Given the description of an element on the screen output the (x, y) to click on. 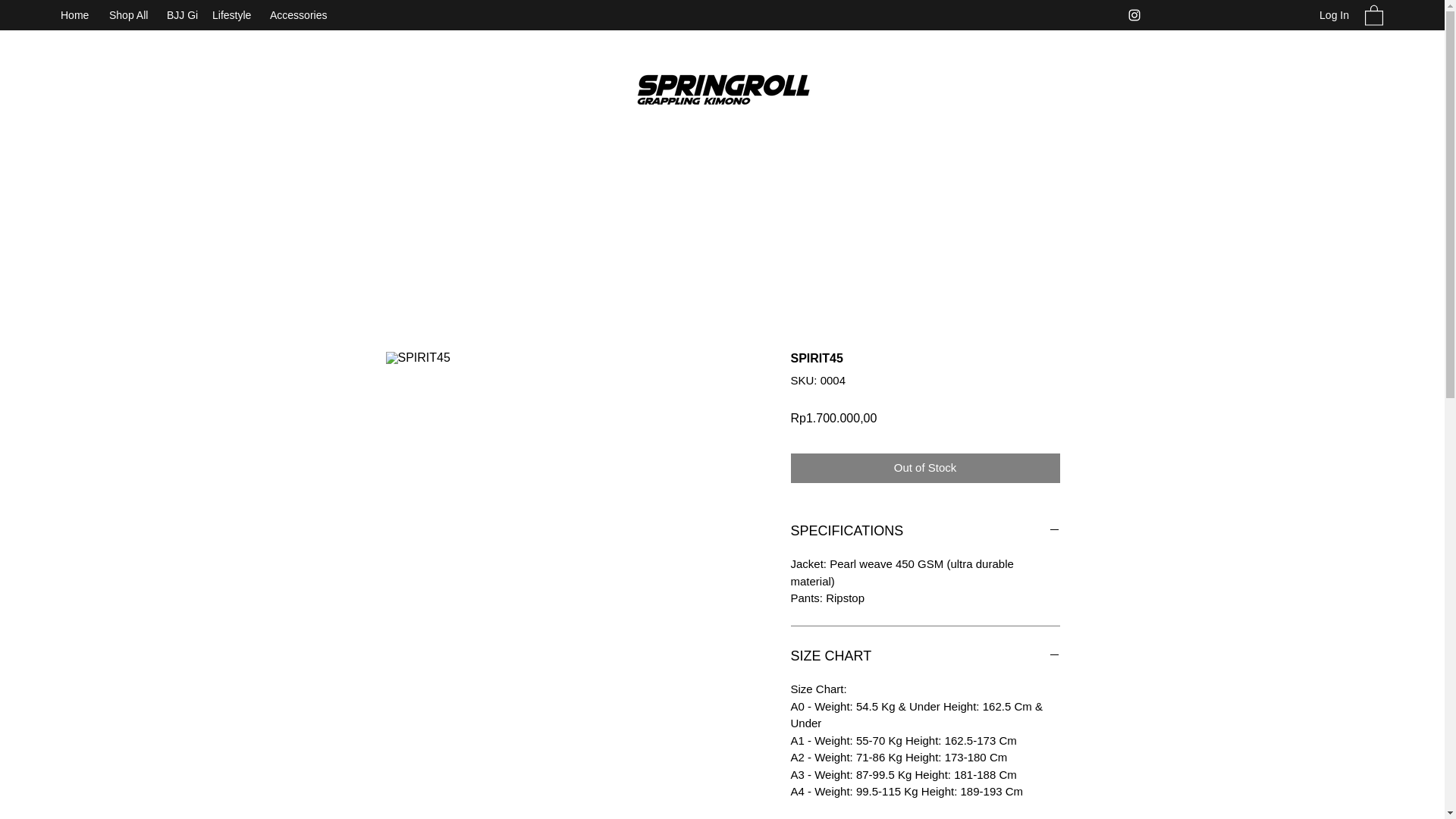
Log In (1333, 15)
Accessories (303, 15)
SIZE CHART (924, 656)
Lifestyle (233, 15)
BJJ Gi (181, 15)
SPECIFICATIONS (924, 531)
Home (76, 15)
Shop All (129, 15)
Out of Stock (924, 468)
